Given the description of an element on the screen output the (x, y) to click on. 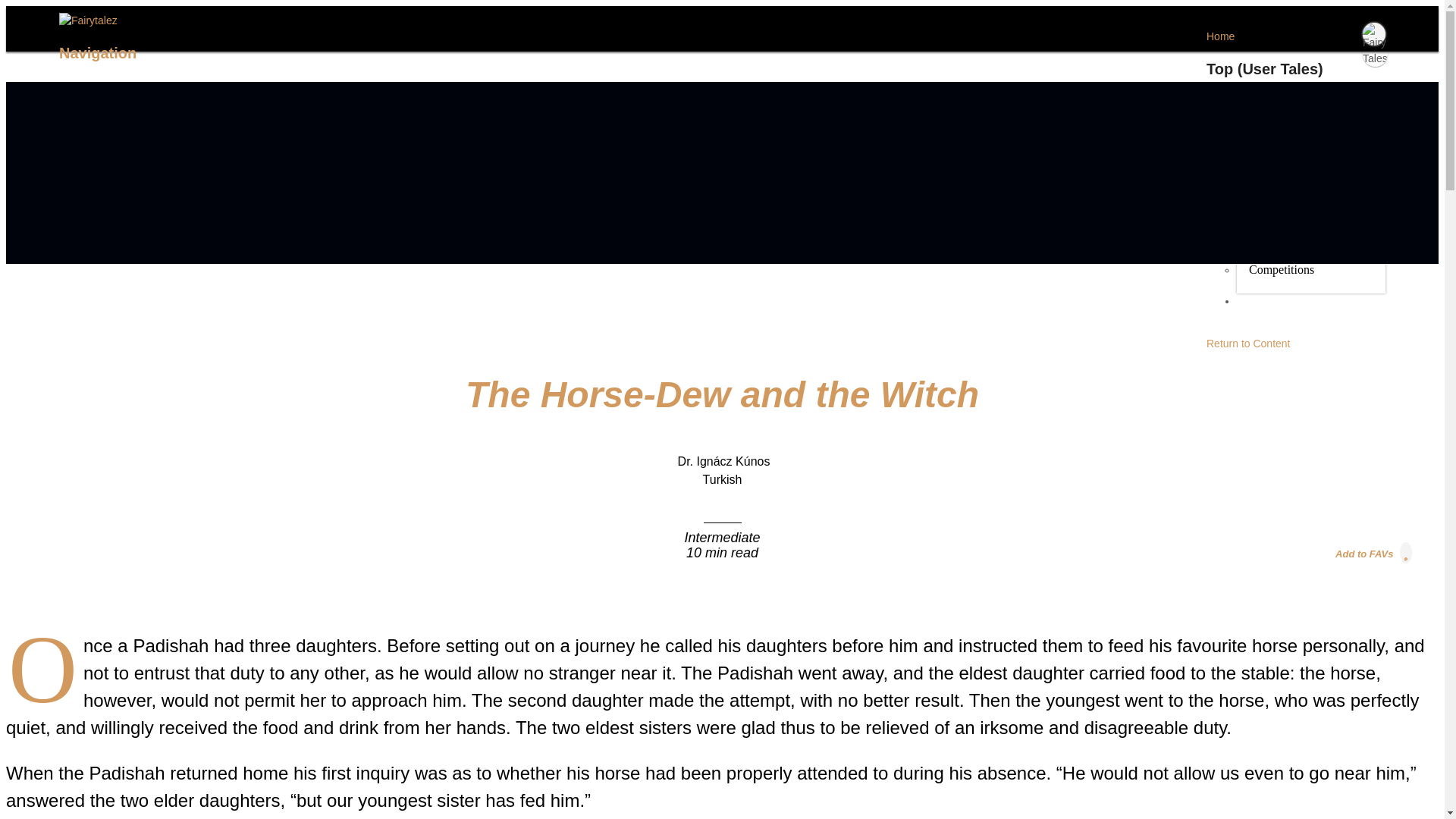
Return to Content (1248, 343)
Regions (1268, 121)
Users (1262, 237)
Competitions (1281, 269)
Story Index (1276, 153)
FAQ (1246, 306)
Add to FAVs (1373, 552)
Categories (1274, 221)
Turkish (722, 479)
Home (1220, 36)
